Given the description of an element on the screen output the (x, y) to click on. 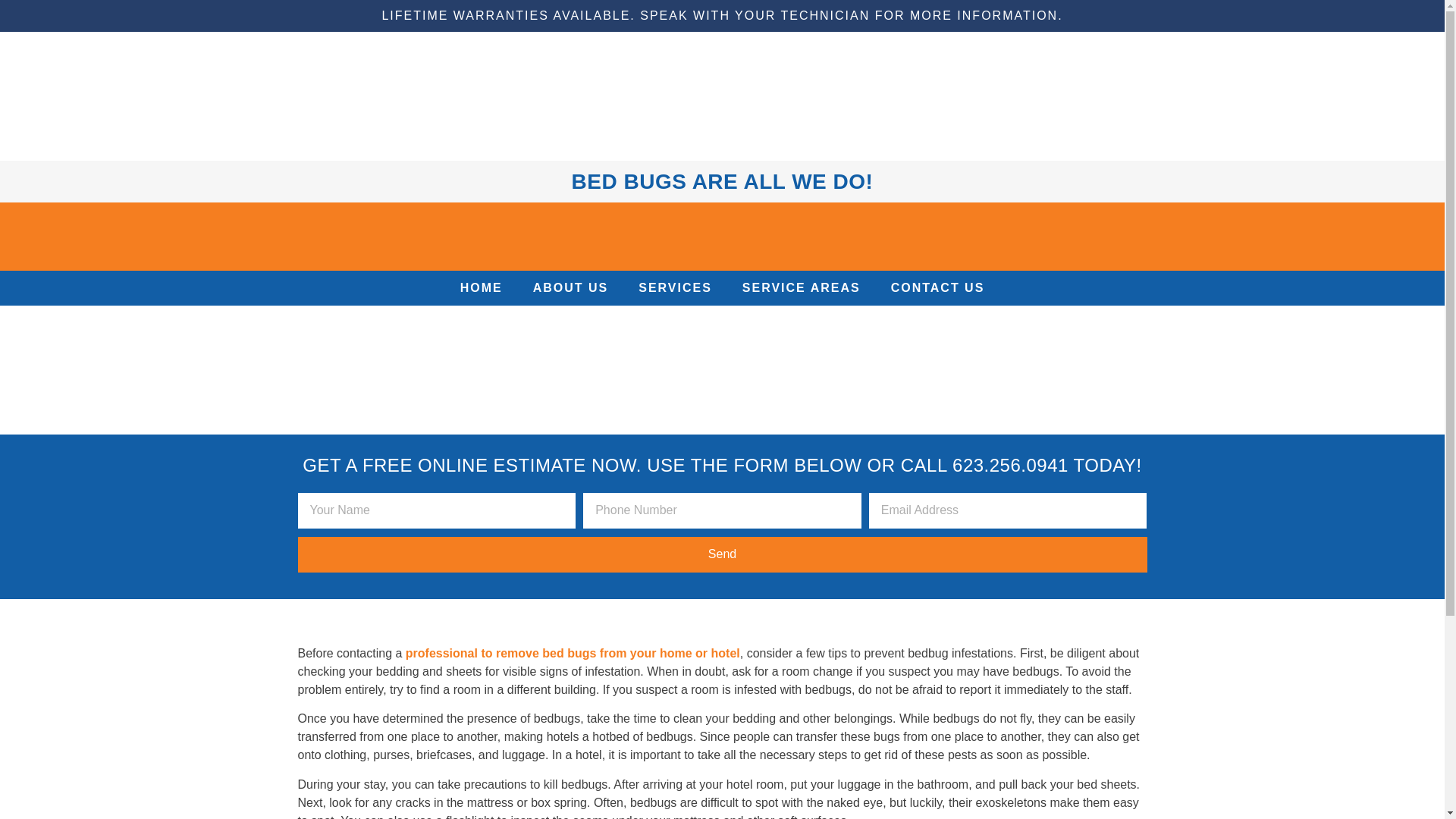
CONTACT US (938, 288)
ABOUT US (571, 288)
SERVICES (674, 288)
HOME (481, 288)
Send (722, 554)
SERVICE AREAS (801, 288)
professional to remove bed bugs from your home or hotel (572, 653)
